Given the description of an element on the screen output the (x, y) to click on. 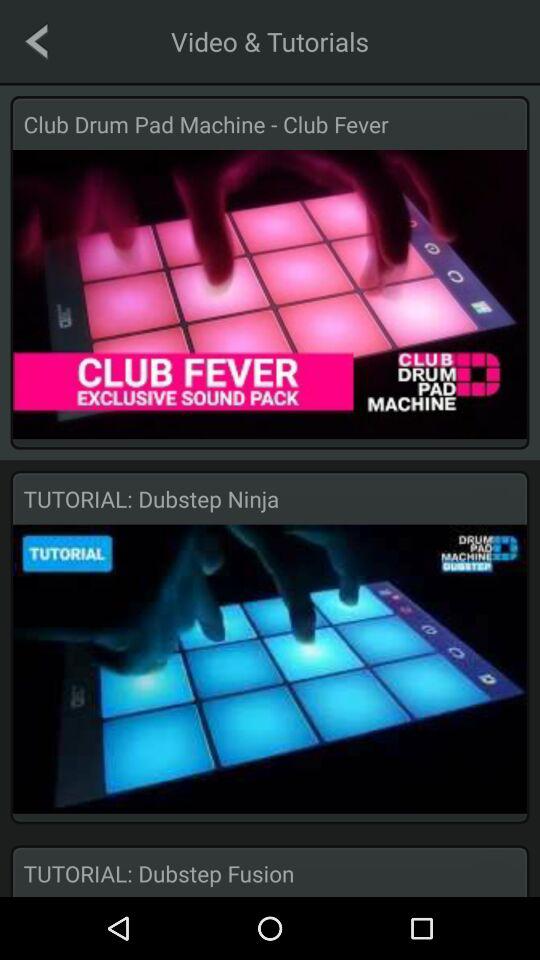
turn on the item next to the video & tutorials item (36, 41)
